Given the description of an element on the screen output the (x, y) to click on. 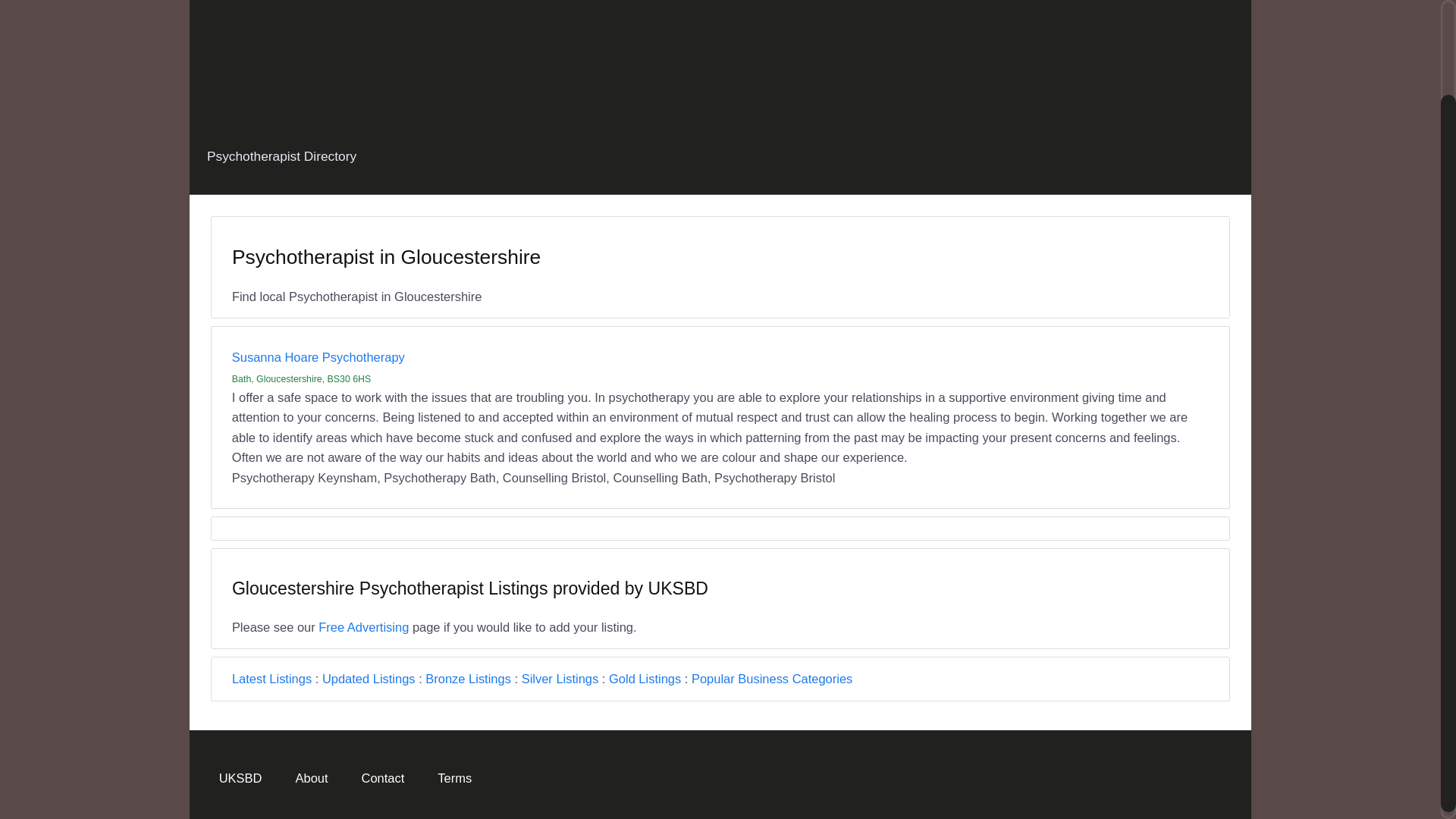
Gold Listings (644, 678)
Contact (382, 777)
Psychotherapist Directory (281, 156)
Silver Listings (559, 678)
Advertisement (719, 55)
About (311, 777)
Bronze Listings (468, 678)
Latest Listings (271, 678)
Popular Business Categories (771, 678)
Updated Listings (367, 678)
